Given the description of an element on the screen output the (x, y) to click on. 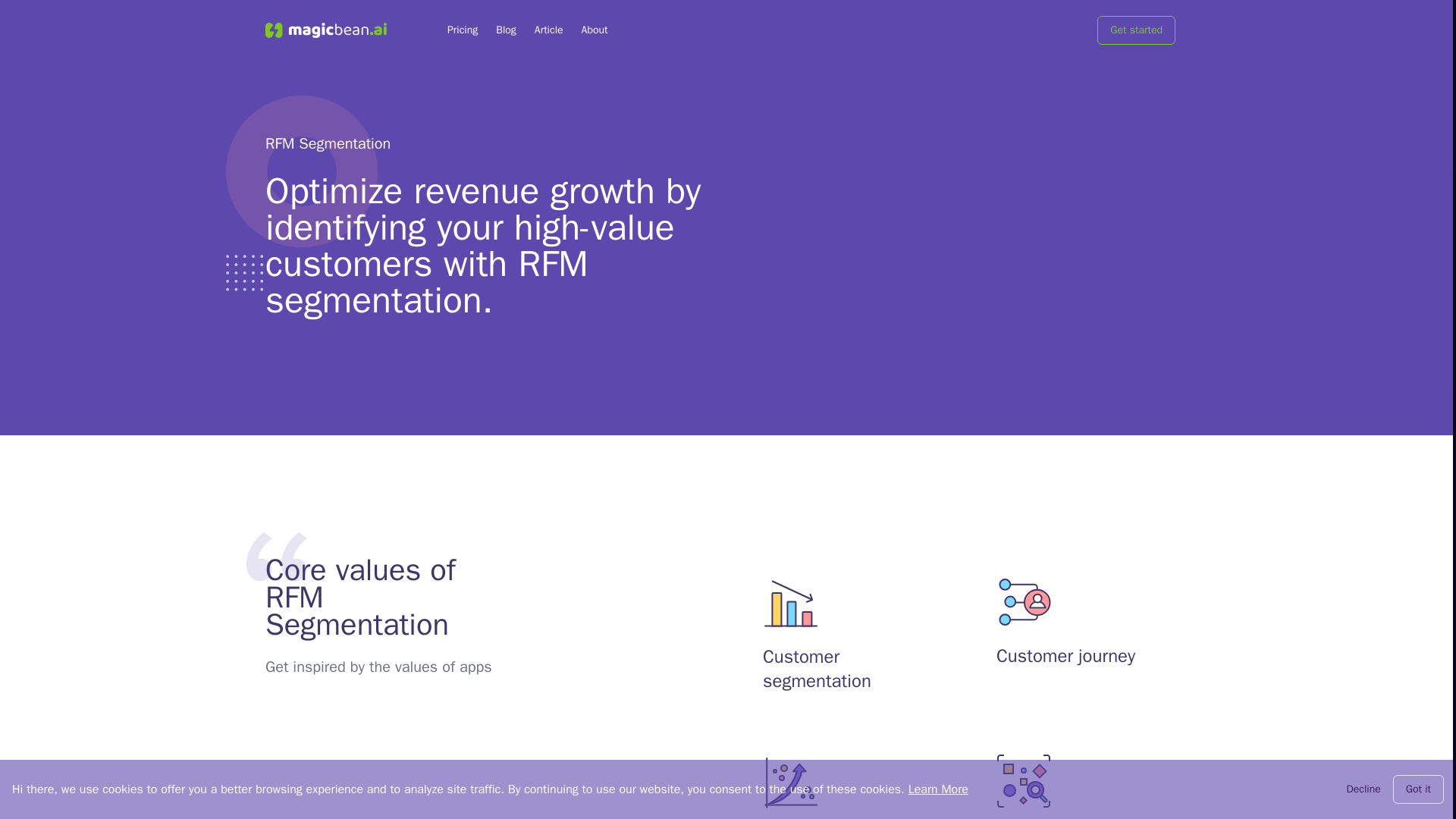
Article (548, 29)
YouTube video player (1006, 235)
Pricing (461, 29)
Get started (1142, 30)
Get started (1135, 30)
Got it (1418, 788)
Decline (1362, 788)
About (594, 29)
Blog (506, 29)
